Given the description of an element on the screen output the (x, y) to click on. 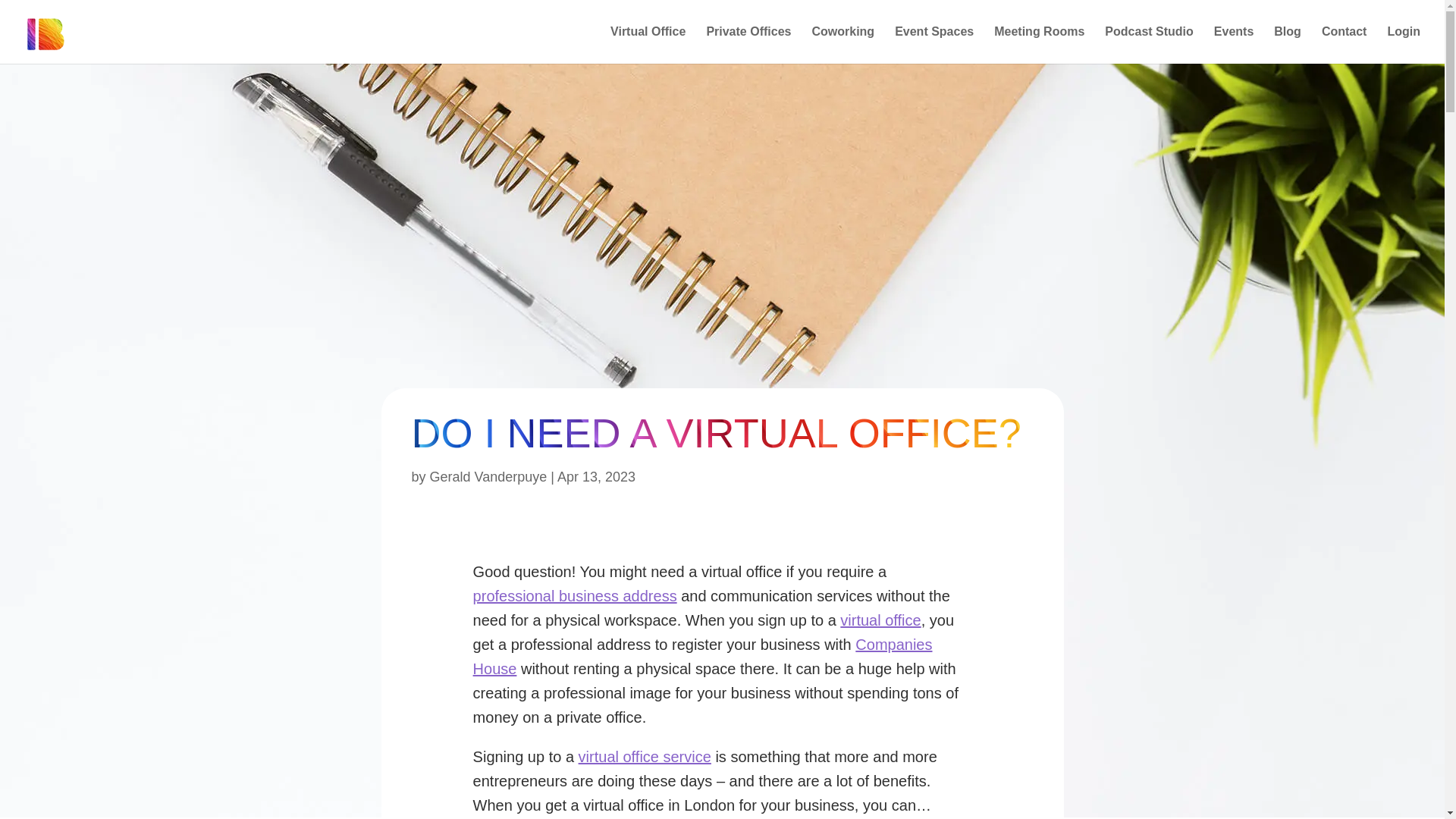
Gerald Vanderpuye (488, 476)
Posts by Gerald Vanderpuye (488, 476)
Login (1404, 44)
Coworking (842, 44)
Event Spaces (934, 44)
Meeting Rooms (1039, 44)
Virtual Office (647, 44)
professional business address (575, 596)
Events (1233, 44)
Contact (1344, 44)
Companies House (703, 656)
virtual office (880, 619)
Private Offices (748, 44)
Podcast Studio (1148, 44)
virtual office service (644, 756)
